Given the description of an element on the screen output the (x, y) to click on. 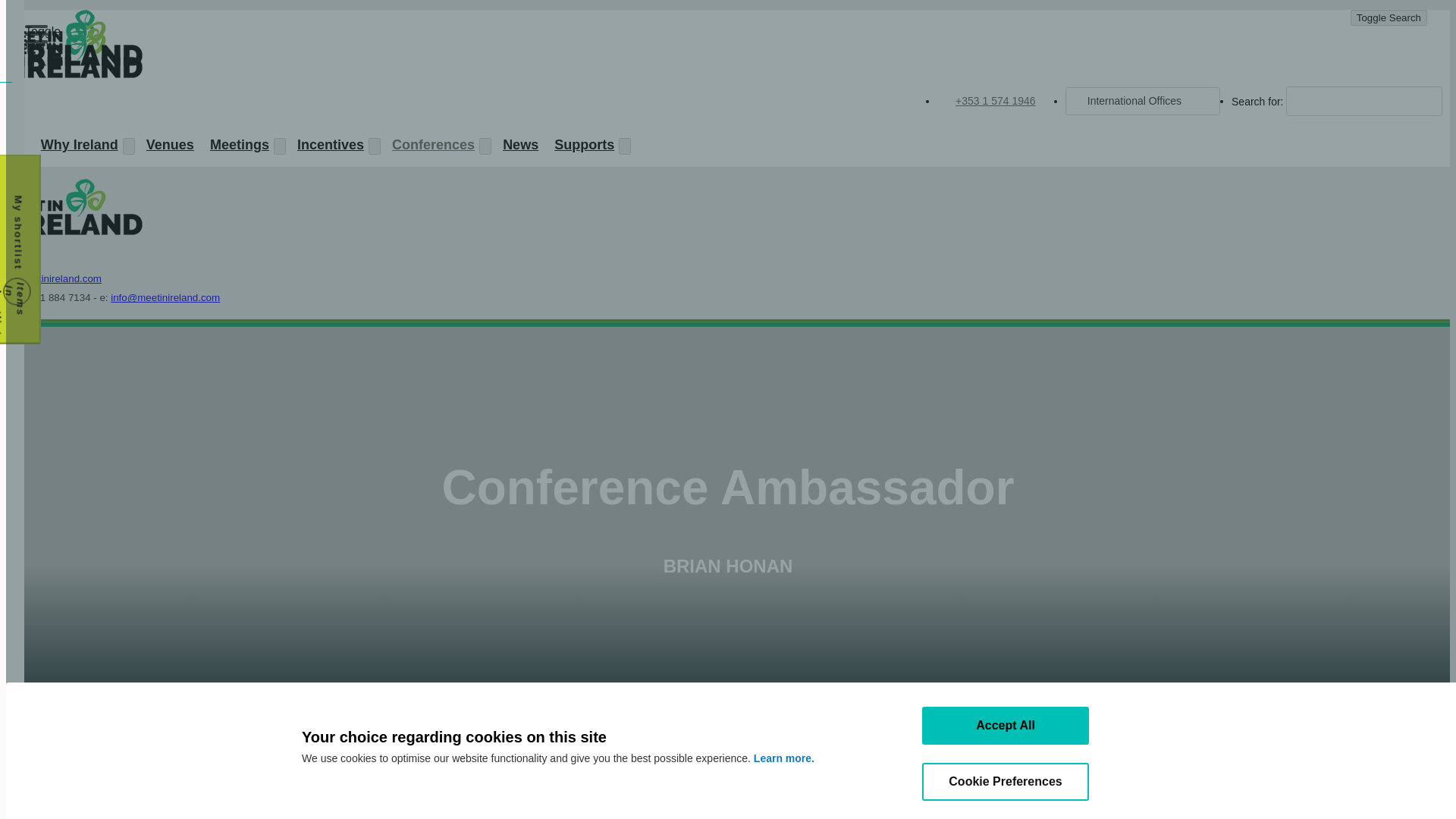
International Offices (1142, 100)
Accept All (1005, 725)
Venues (168, 147)
Toggle Search (1388, 17)
Toggle Menu (36, 31)
Meetings (237, 147)
View Incentives page (328, 147)
Why Ireland (77, 147)
View Venues page (168, 147)
Choose International Office (1142, 100)
